Given the description of an element on the screen output the (x, y) to click on. 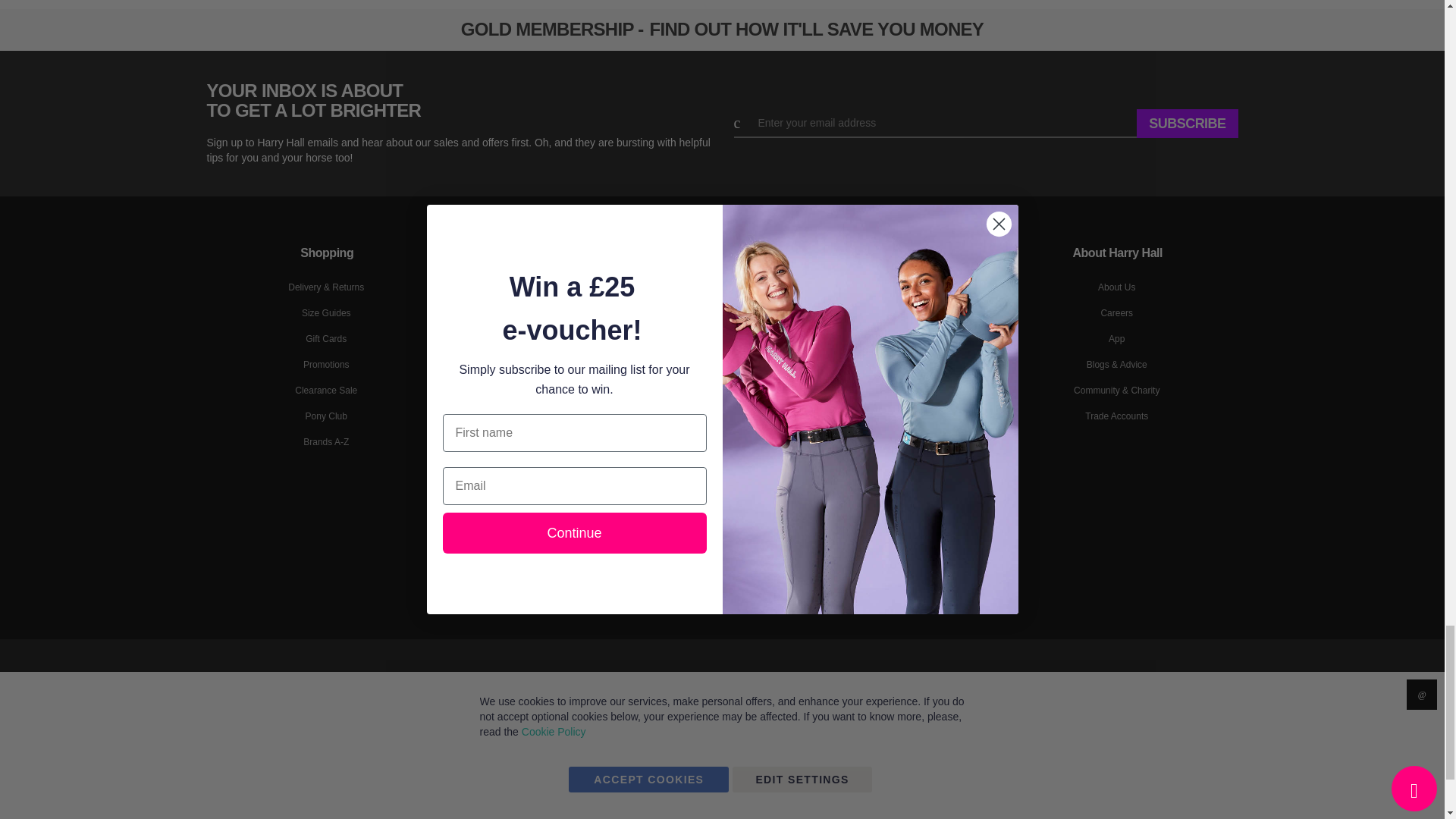
Subscribe (1187, 123)
